Given the description of an element on the screen output the (x, y) to click on. 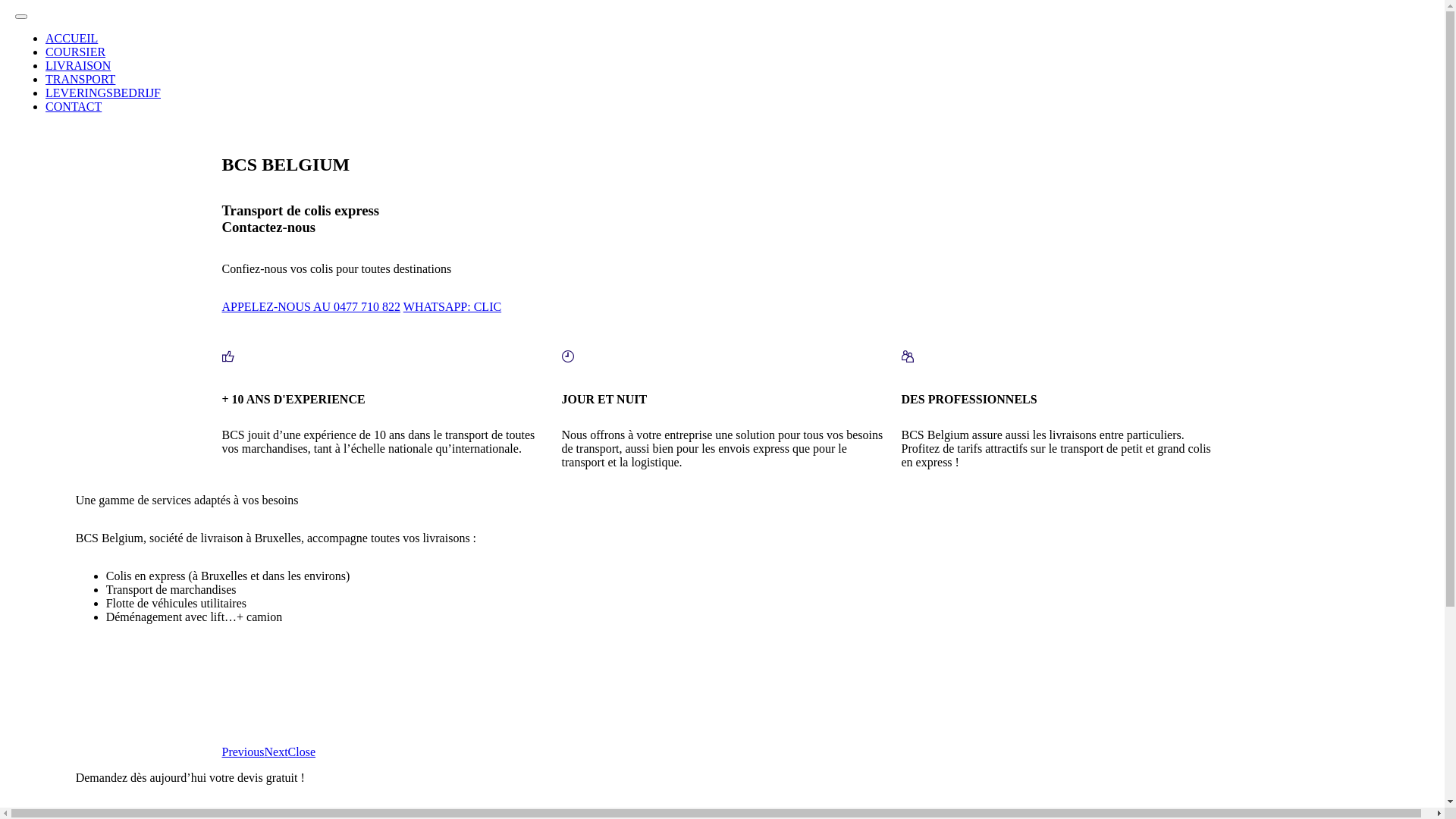
Next Element type: text (275, 751)
Close Element type: text (301, 751)
LEVERINGSBEDRIJF Element type: text (102, 92)
LIVRAISON Element type: text (77, 65)
CONTACT Element type: text (73, 106)
ACCUEIL Element type: text (71, 37)
Previous Element type: text (242, 751)
WHATSAPP: CLIC Element type: text (452, 306)
APPELEZ-NOUS AU 0477 710 822 Element type: text (310, 306)
COURSIER Element type: text (75, 51)
TRANSPORT Element type: text (80, 78)
